Given the description of an element on the screen output the (x, y) to click on. 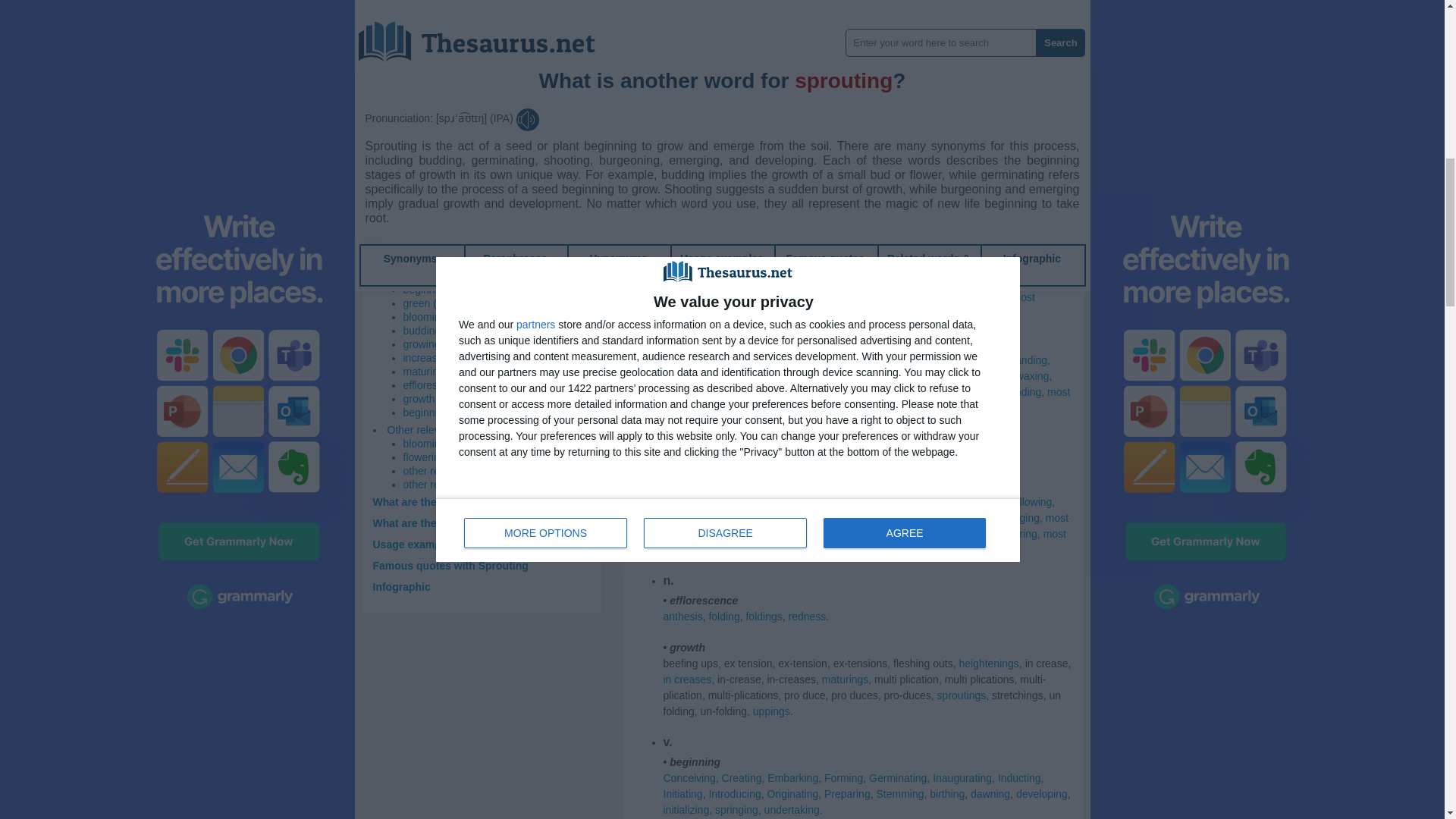
What is another word for sprouting? (464, 246)
Usage examples for Sprouting (448, 544)
Synonyms for Sprouting (674, 60)
Synonyms for Sprouting (912, 28)
Synonyms for Sprouting (840, 28)
Synonyms for Sprouting (966, 44)
Synonyms for Sprouting (827, 44)
Synonyms for Sprouting (871, 44)
Synonyms for Sprouting (871, 28)
Synonyms for Sprouting (1046, 28)
Famous quotes with Sprouting (450, 565)
Synonyms for Sprouting (780, 44)
What are the paraphrases for sprouting? (475, 501)
flowering (424, 457)
Synonyms for Sprouting (994, 28)
